Given the description of an element on the screen output the (x, y) to click on. 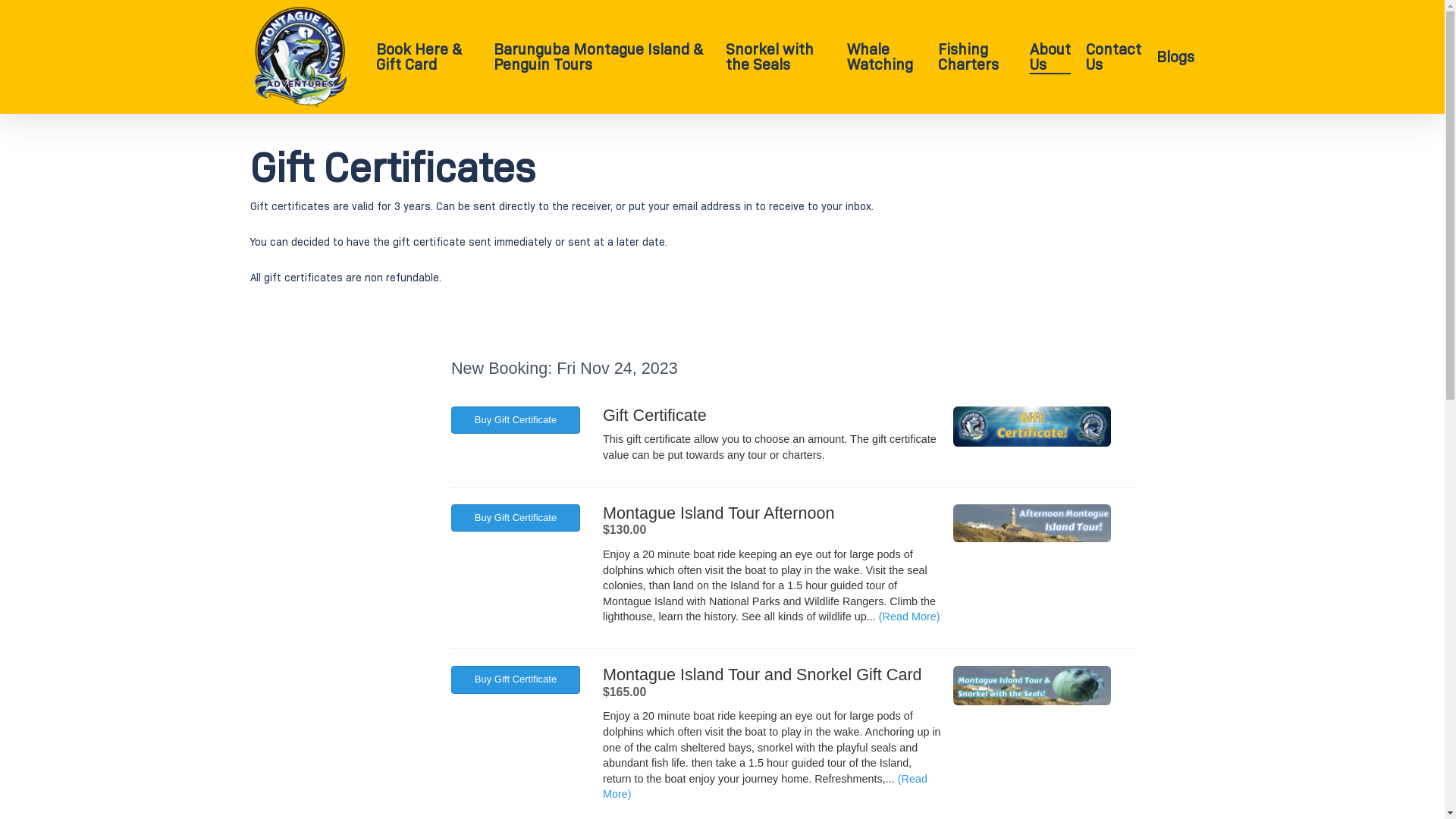
Blogs Element type: text (1175, 56)
Whale Watching Element type: text (884, 56)
About Us Element type: text (1049, 56)
Barunguba Montague Island & Penguin Tours Element type: text (601, 56)
Snorkel with the Seals Element type: text (778, 56)
Contact Us Element type: text (1113, 56)
Fishing Charters Element type: text (976, 56)
Book Here & Gift Card Element type: text (427, 56)
